Given the description of an element on the screen output the (x, y) to click on. 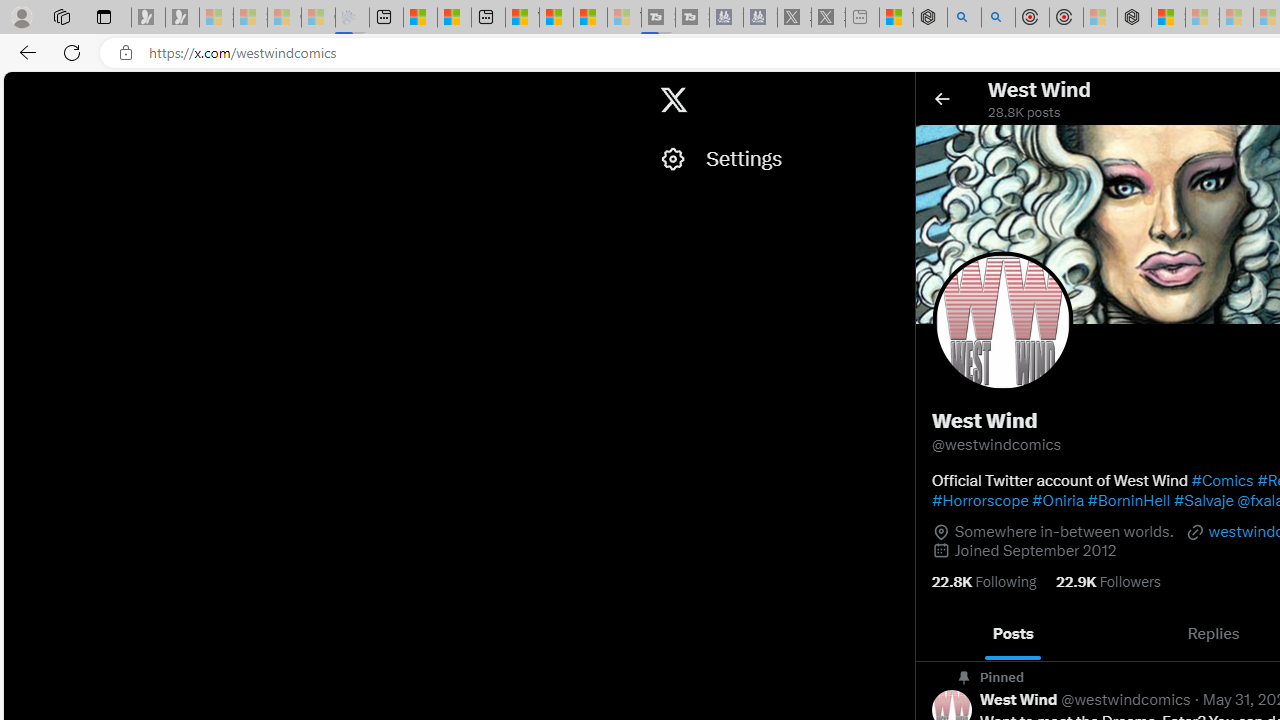
Opens profile photo (1003, 322)
#Horrorscope (980, 500)
